Given the description of an element on the screen output the (x, y) to click on. 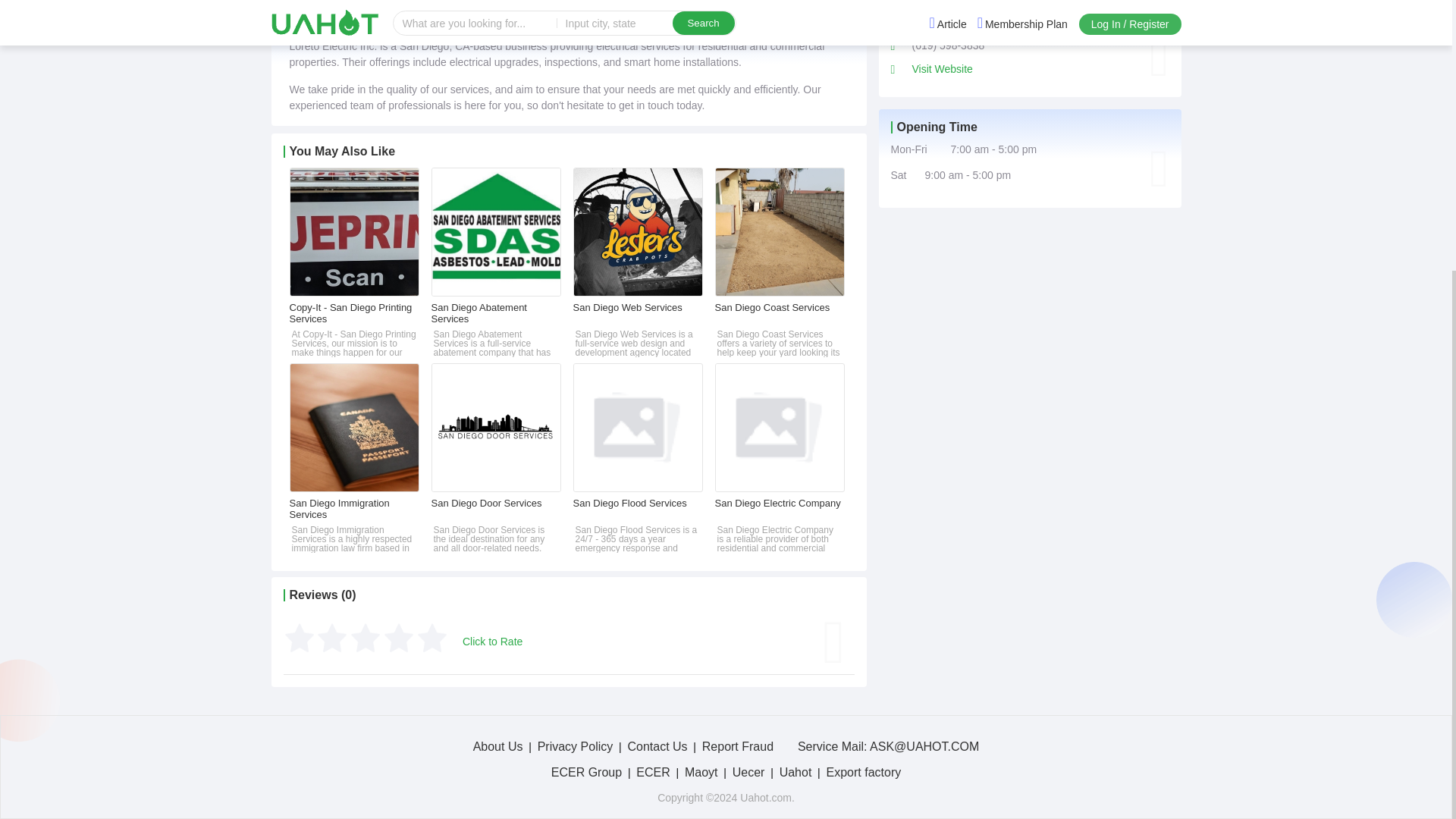
Privacy Policy (574, 746)
Contact Us (657, 746)
ECER Group (586, 771)
Report Fraud (737, 746)
Uahot (795, 771)
Visit Website (941, 69)
regular (364, 637)
ECER (652, 771)
Click to Rate (492, 641)
Export factory (864, 771)
gorgeous (431, 637)
bad (298, 637)
poor (330, 637)
good (397, 637)
About Us (497, 746)
